Given the description of an element on the screen output the (x, y) to click on. 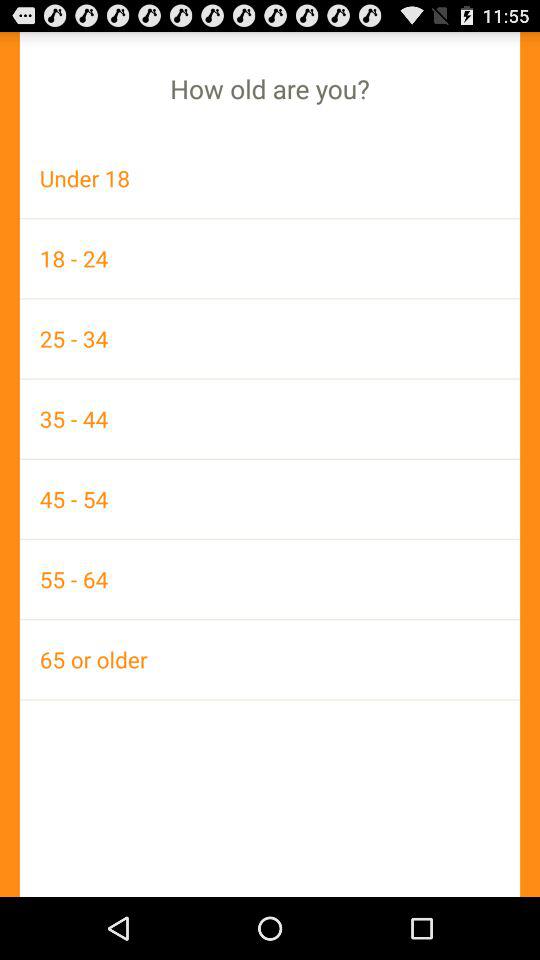
select 35 - 44 item (269, 418)
